Given the description of an element on the screen output the (x, y) to click on. 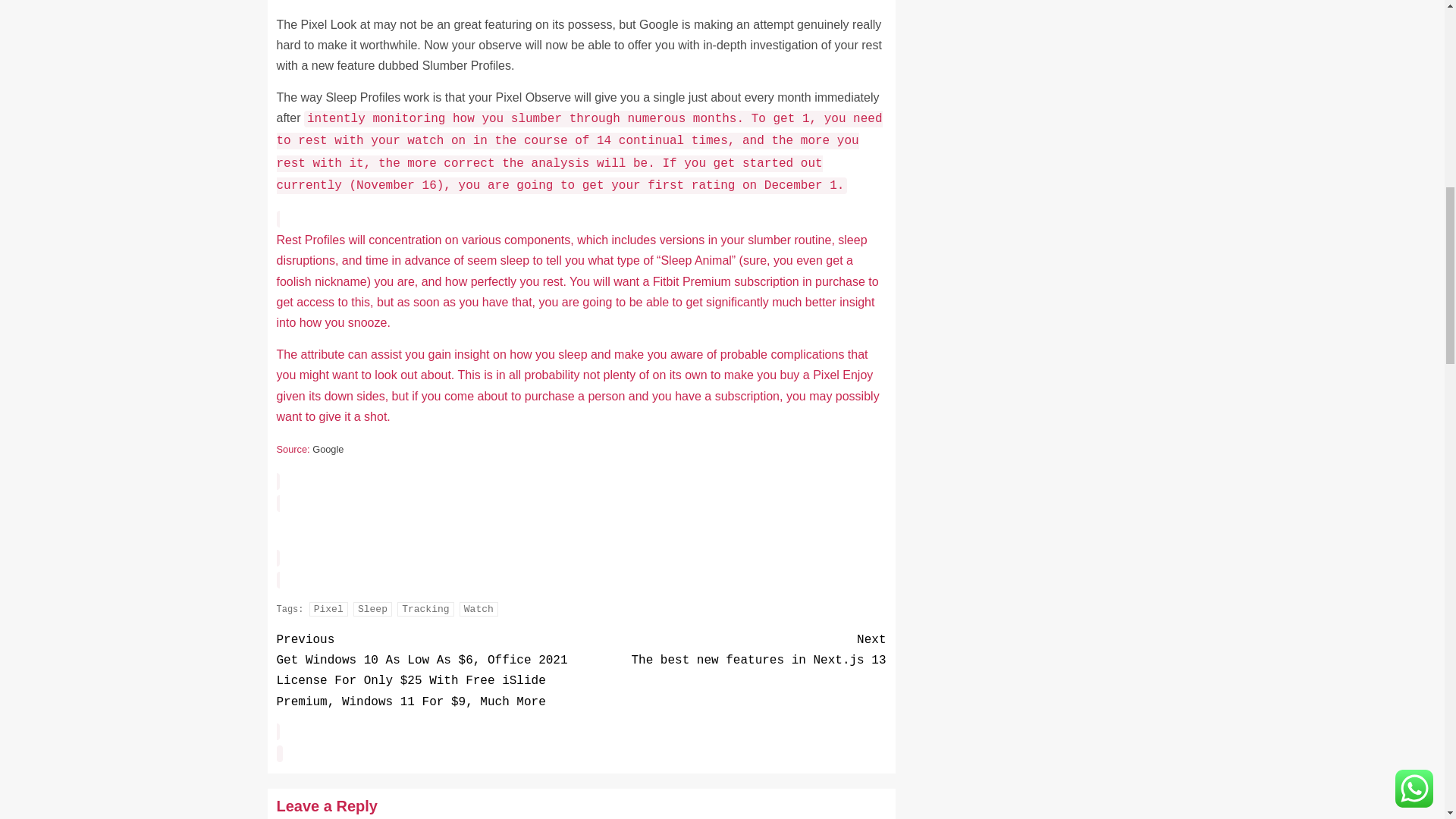
Google (328, 449)
Sleep (372, 608)
Watch (732, 649)
Pixel (478, 608)
Tracking (327, 608)
